Given the description of an element on the screen output the (x, y) to click on. 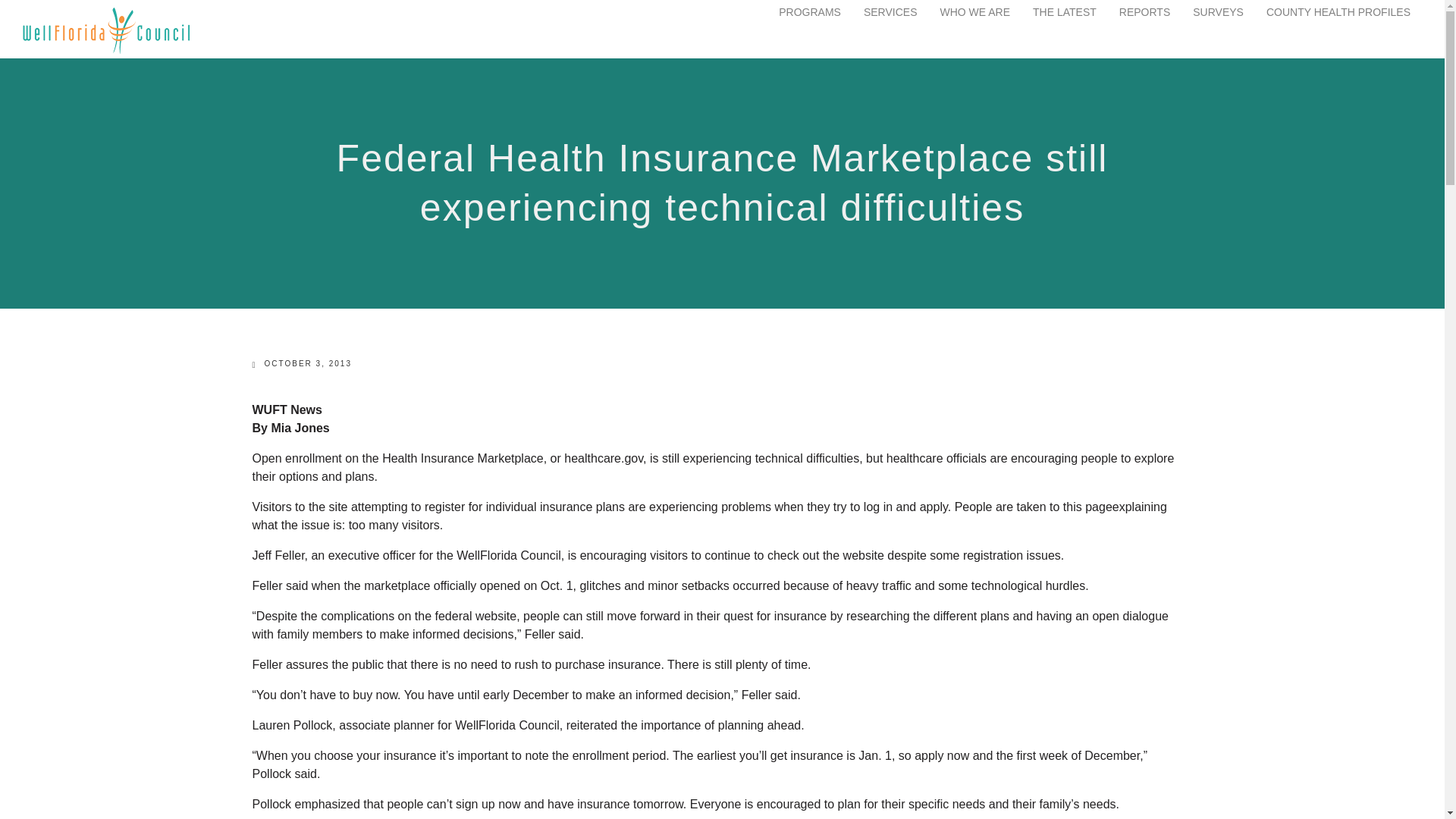
WHO WE ARE (974, 12)
SURVEYS (1217, 12)
SERVICES (890, 12)
PROGRAMS (809, 12)
COUNTY HEALTH PROFILES (1338, 12)
REPORTS (1144, 12)
THE LATEST (1064, 12)
